Given the description of an element on the screen output the (x, y) to click on. 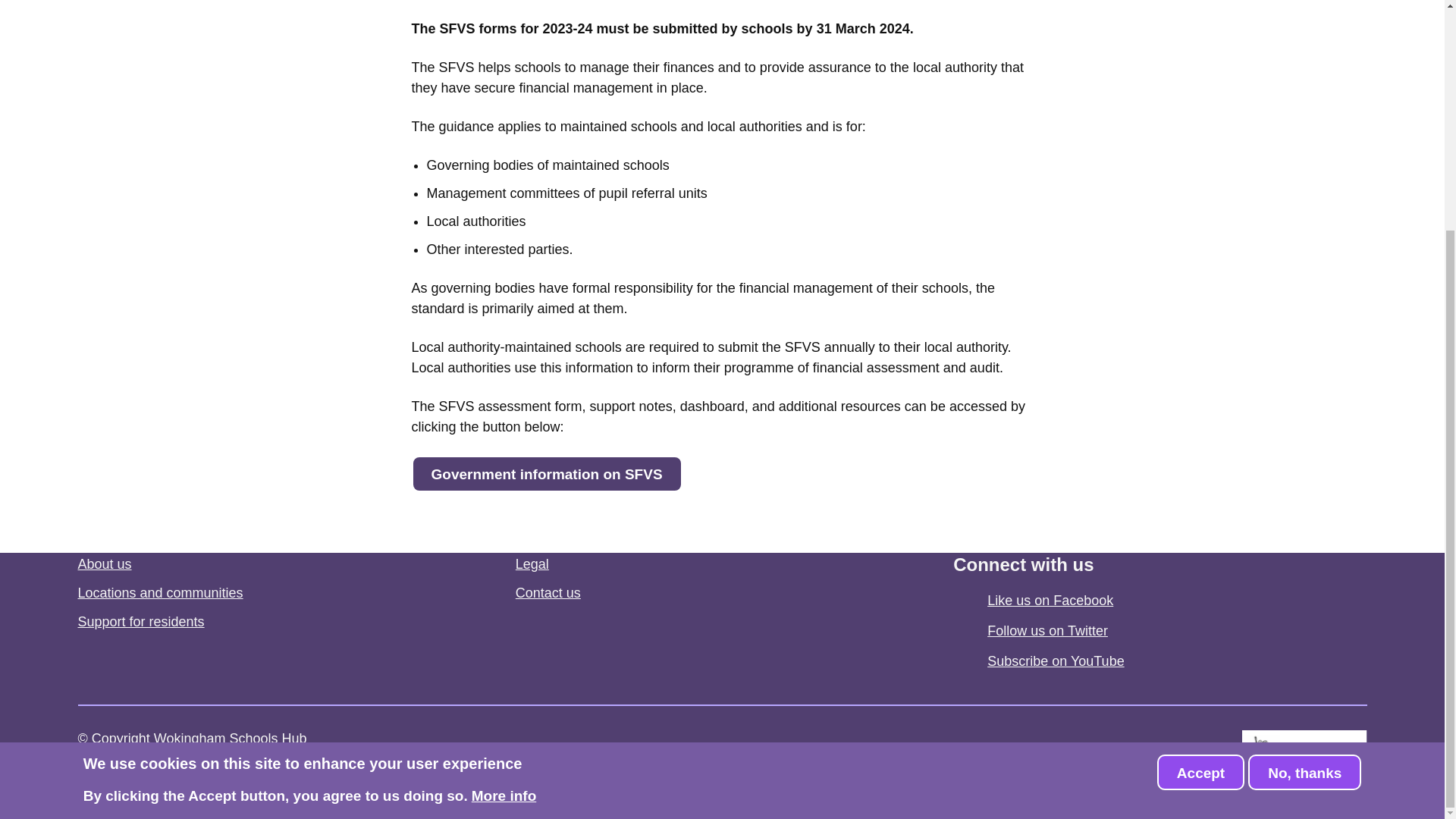
About us (104, 563)
Contact us (547, 592)
Follow us on Twitter (1047, 630)
Subscribe on YouTube (1055, 661)
Legal (531, 563)
Locations and communities (160, 592)
Support for residents (140, 621)
Government information on SFVS (545, 473)
Like us on Facebook (1050, 600)
